Given the description of an element on the screen output the (x, y) to click on. 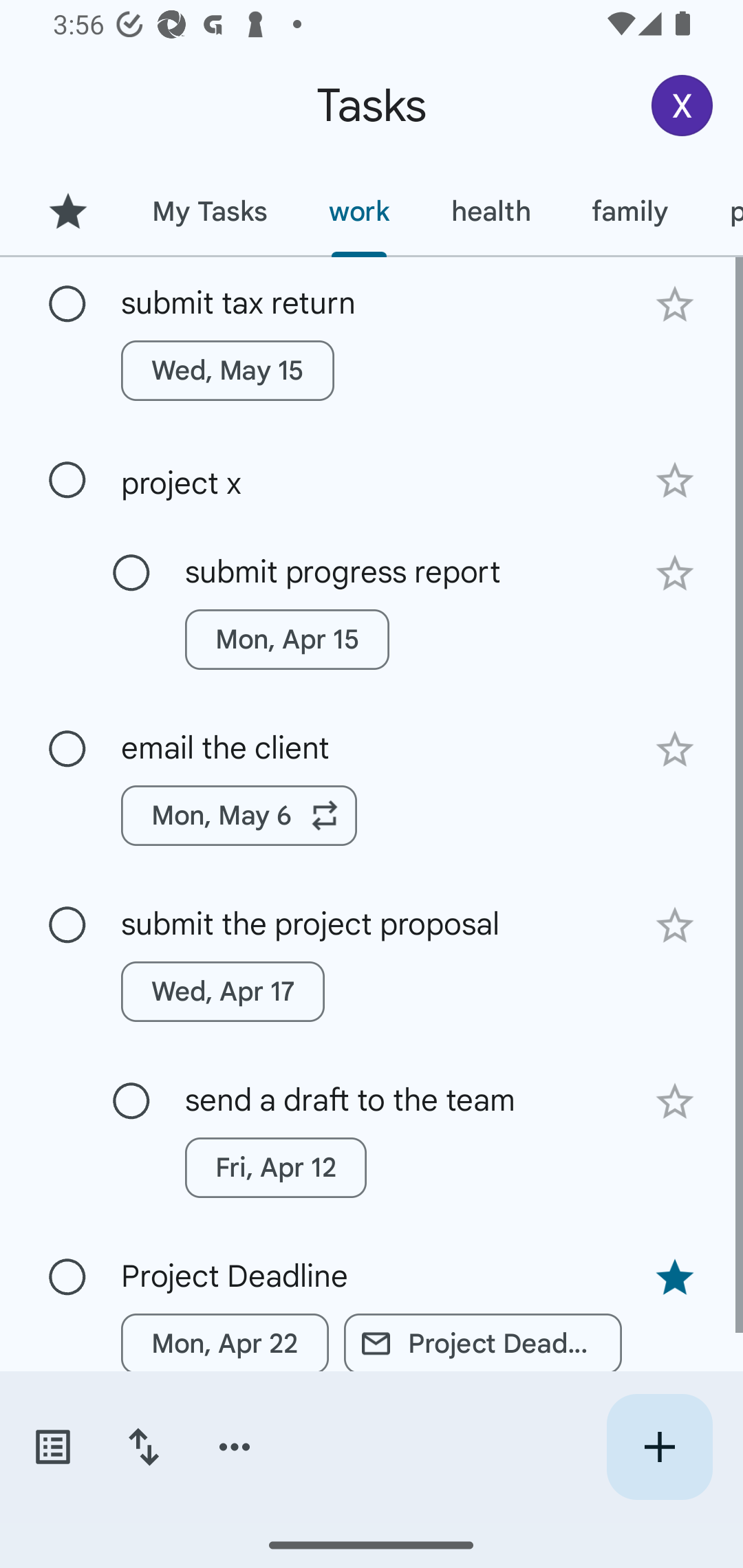
Starred (67, 211)
My Tasks (209, 211)
health (490, 211)
family (629, 211)
Add star (674, 303)
Mark as complete (67, 304)
Wed, May 15 (227, 369)
Add star (674, 480)
Mark as complete (67, 480)
Add star (674, 573)
Mark as complete (131, 572)
Mon, Apr 15 (287, 639)
Add star (674, 749)
Mark as complete (67, 750)
Mon, May 6 (239, 814)
Add star (674, 924)
Mark as complete (67, 925)
Wed, Apr 17 (222, 991)
Add star (674, 1101)
Mark as complete (131, 1101)
Fri, Apr 12 (276, 1167)
Remove star (674, 1277)
Mark as complete (67, 1276)
Mon, Apr 22 (225, 1343)
Project Deadline Related link (482, 1343)
Switch task lists (52, 1447)
Create new task (659, 1446)
Change sort order (143, 1446)
More options (234, 1446)
